Given the description of an element on the screen output the (x, y) to click on. 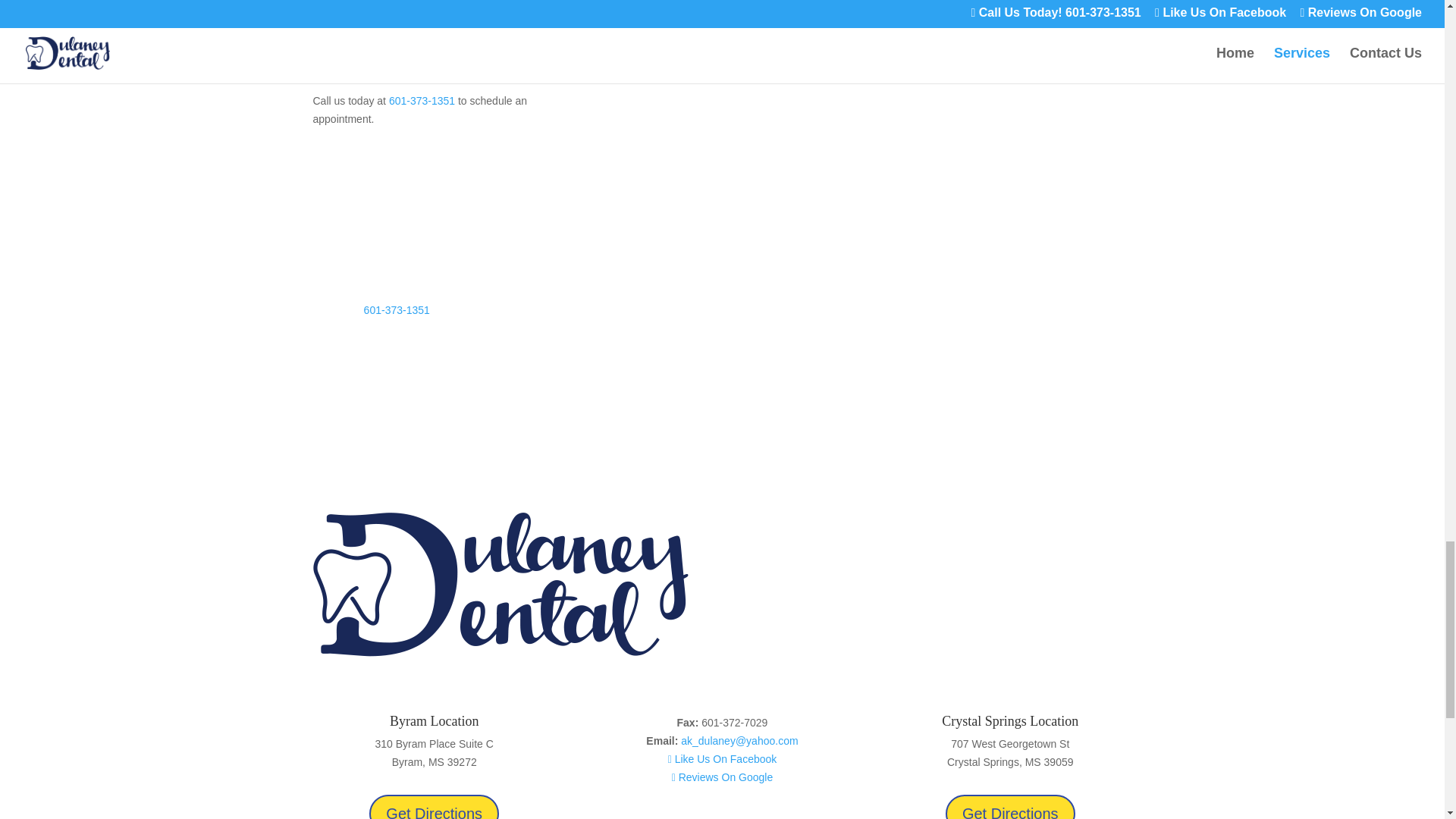
601-373-1351 (421, 101)
601-373-1351 (396, 309)
Get Directions (1009, 806)
Get Directions (434, 806)
Reviews On Google (722, 776)
Like Us On Facebook (722, 758)
CareCredit (782, 63)
